Given the description of an element on the screen output the (x, y) to click on. 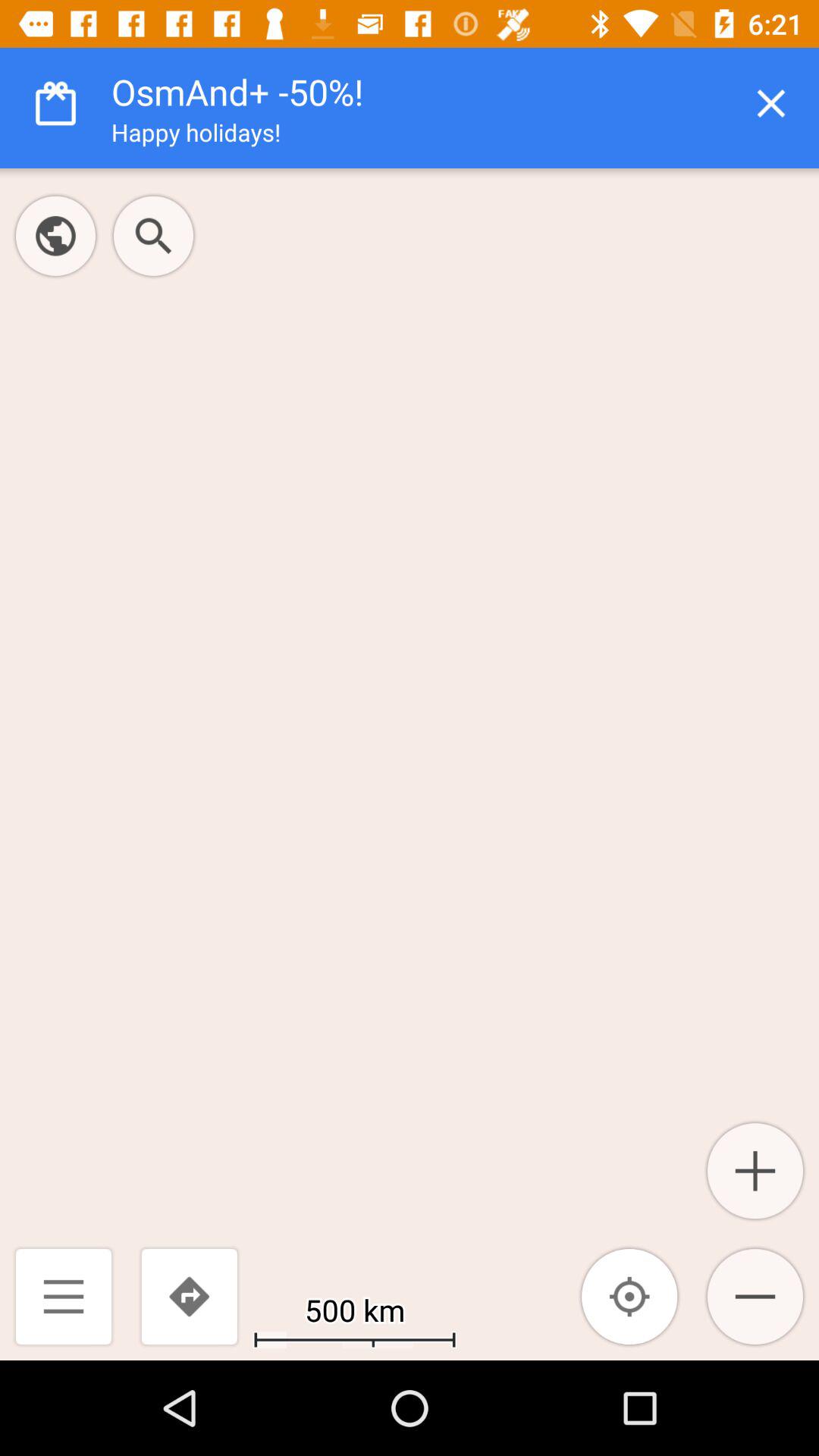
click the item next to the 500 km icon (189, 1296)
